Given the description of an element on the screen output the (x, y) to click on. 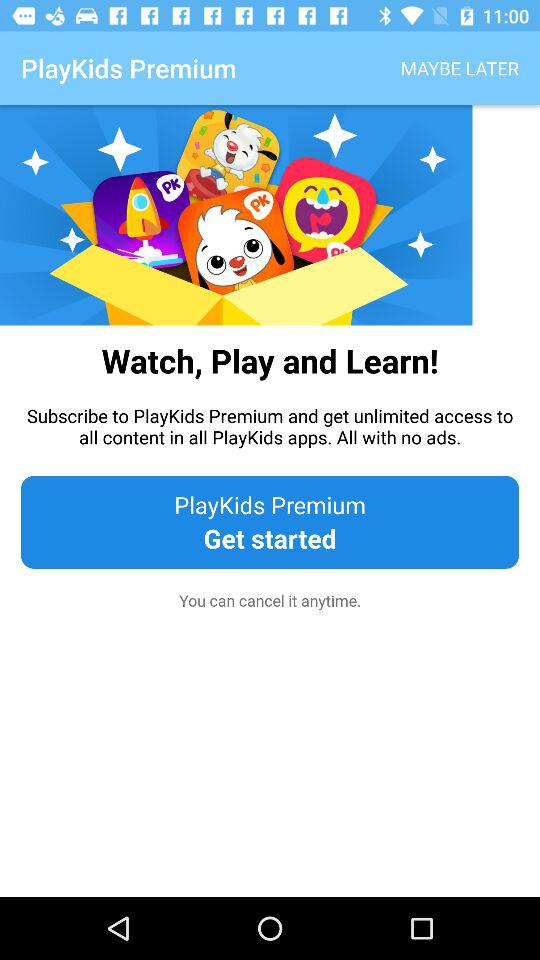
turn on icon to the right of the playkids premium icon (459, 67)
